Given the description of an element on the screen output the (x, y) to click on. 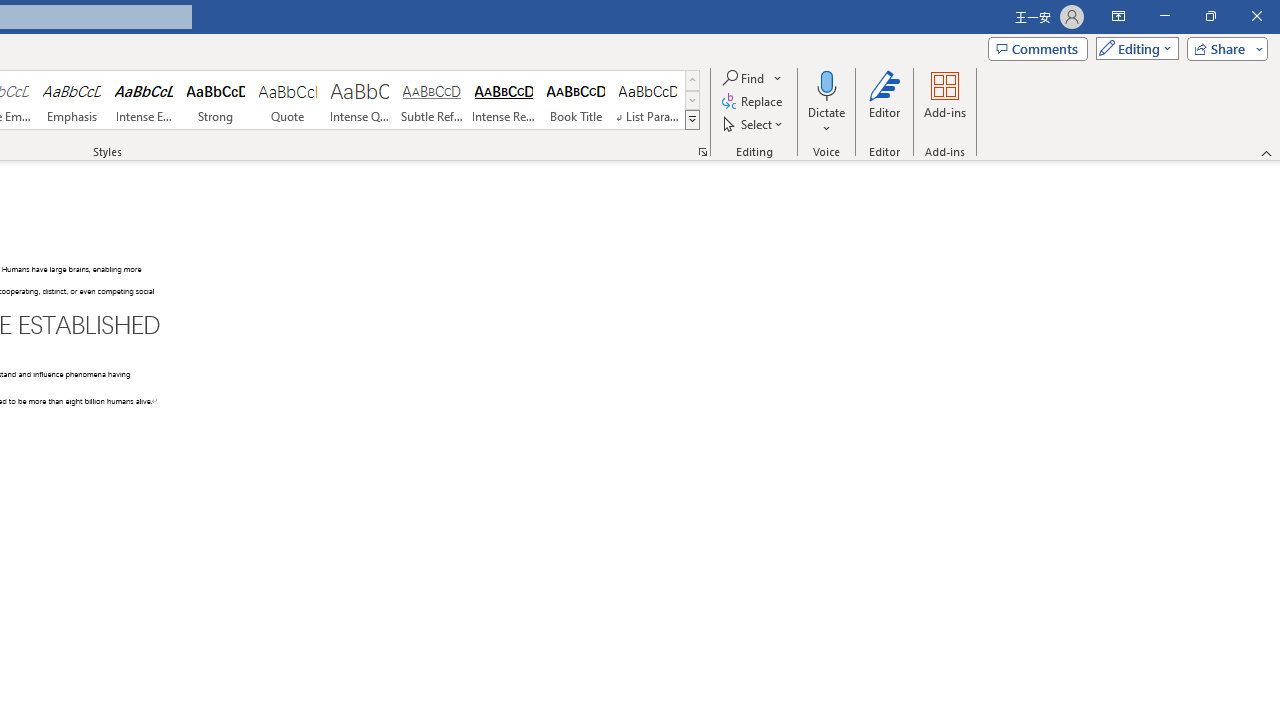
Quote (287, 100)
Intense Quote (359, 100)
Subtle Reference (431, 100)
Strong (216, 100)
Emphasis (71, 100)
